Given the description of an element on the screen output the (x, y) to click on. 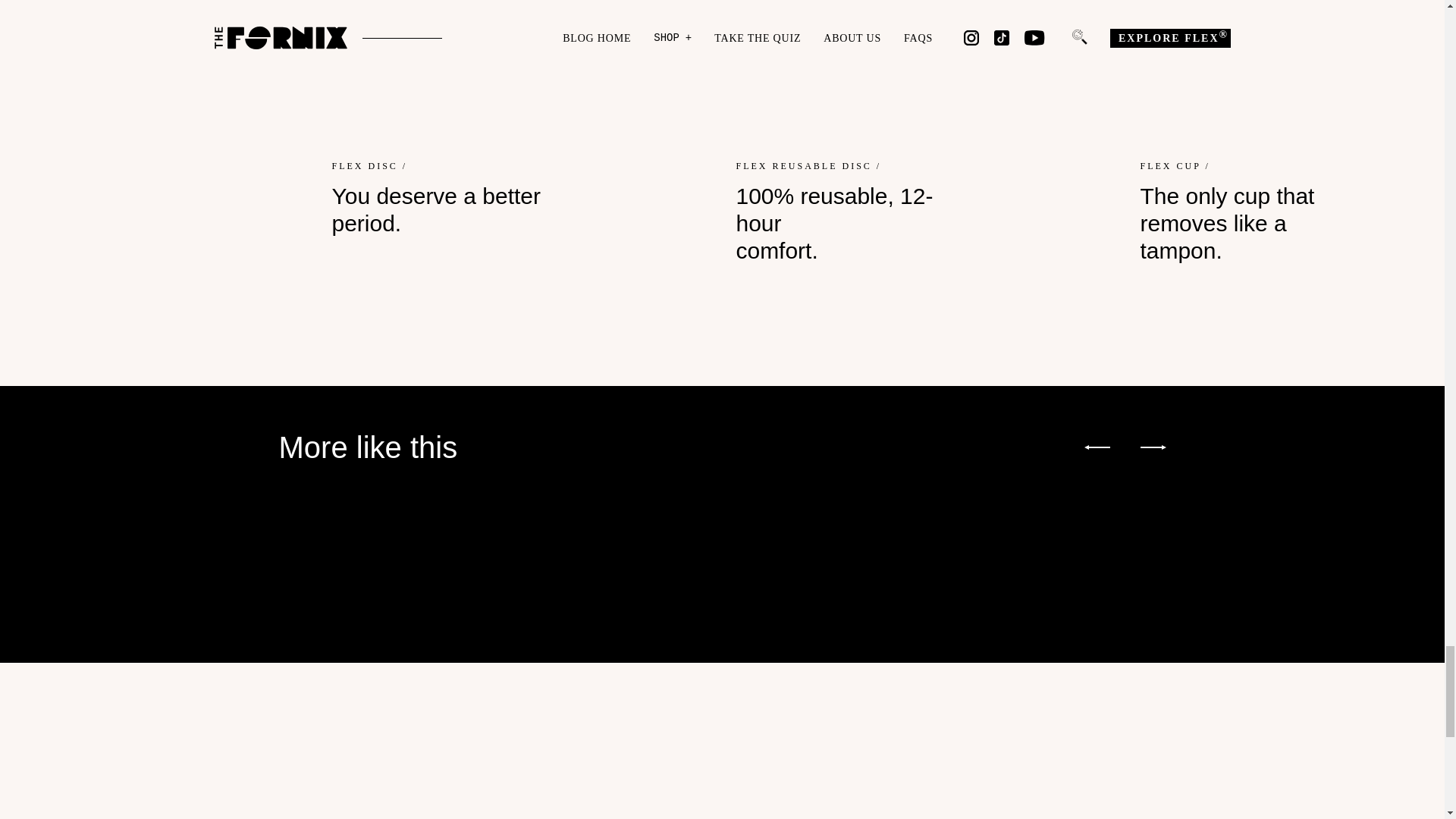
You deserve a better period.  (456, 69)
The only cup that removes like a tampon. (1264, 69)
